Given the description of an element on the screen output the (x, y) to click on. 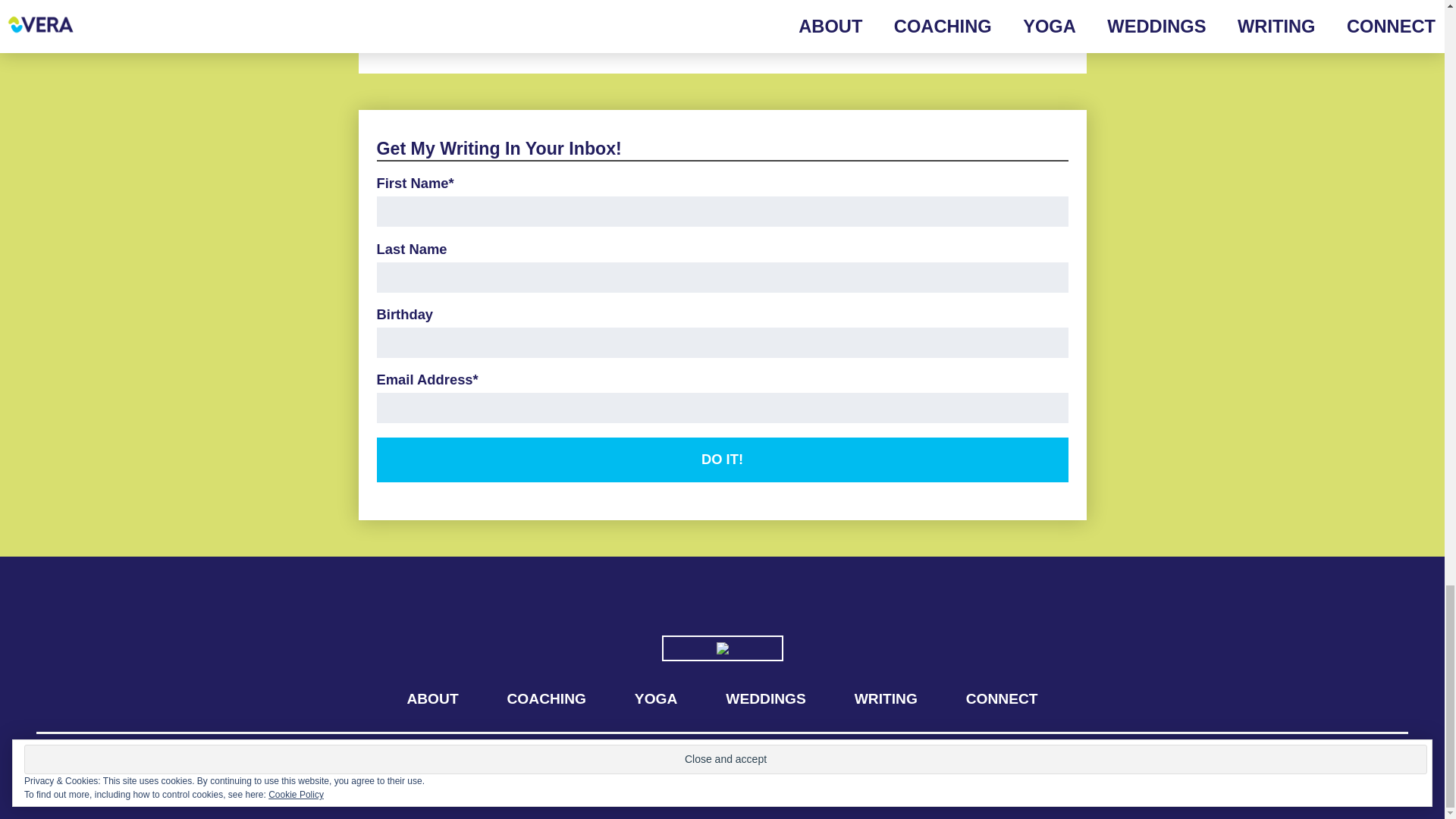
WRITING (885, 698)
DGD (1392, 765)
YOGA (533, 17)
Vera Lester (122, 762)
THIS WEEK'S CLASS (451, 17)
Do it! (721, 459)
CONNECT (1002, 698)
VeraLester.com (122, 762)
Goo. It is great for you! (1392, 765)
Do it! (721, 459)
